Given the description of an element on the screen output the (x, y) to click on. 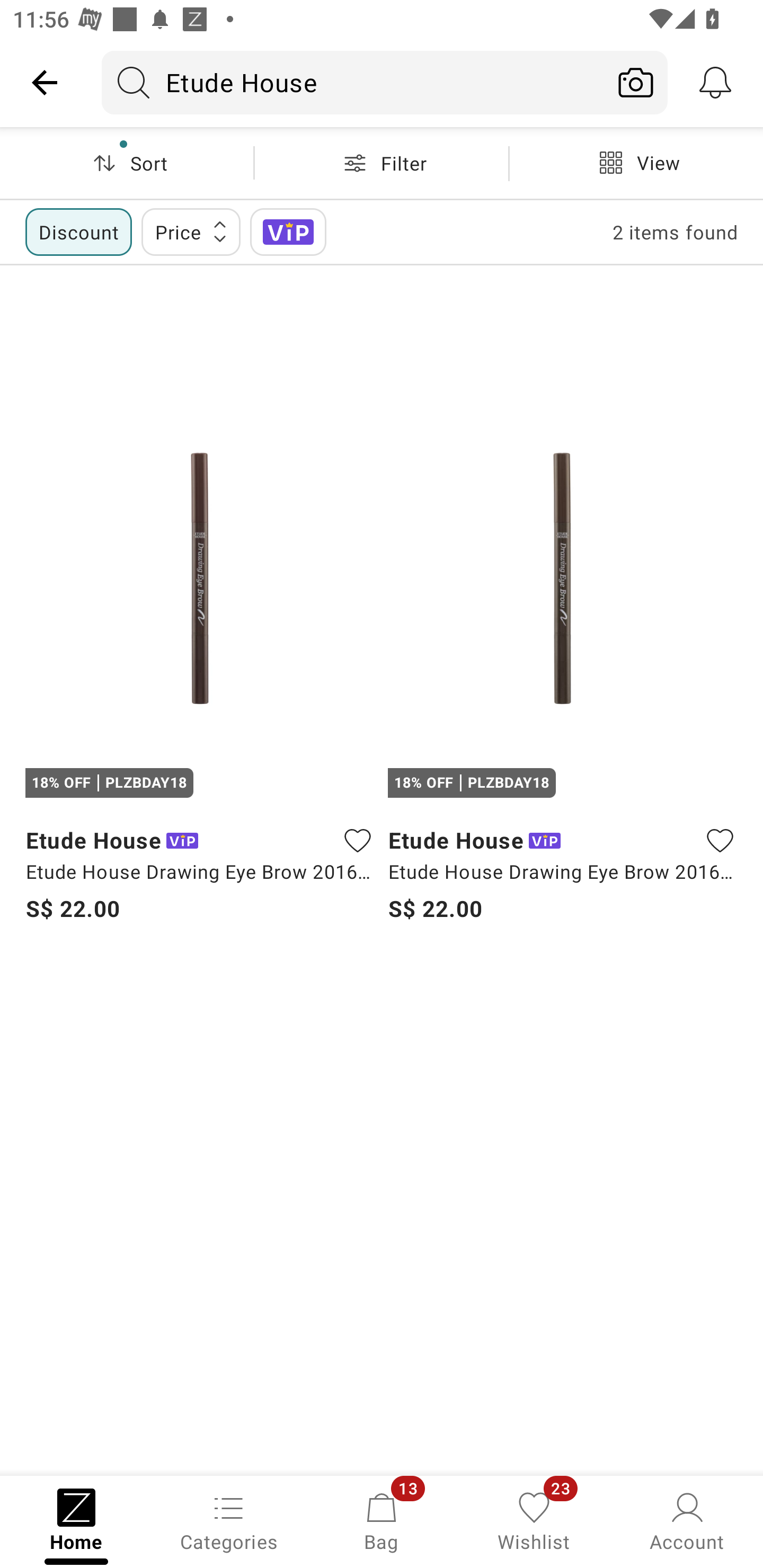
Navigate up (44, 82)
Etude House (352, 82)
Sort (126, 163)
Filter (381, 163)
View (636, 163)
Discount (78, 231)
Price (190, 231)
Categories (228, 1519)
Bag, 13 new notifications Bag (381, 1519)
Wishlist, 23 new notifications Wishlist (533, 1519)
Account (686, 1519)
